Given the description of an element on the screen output the (x, y) to click on. 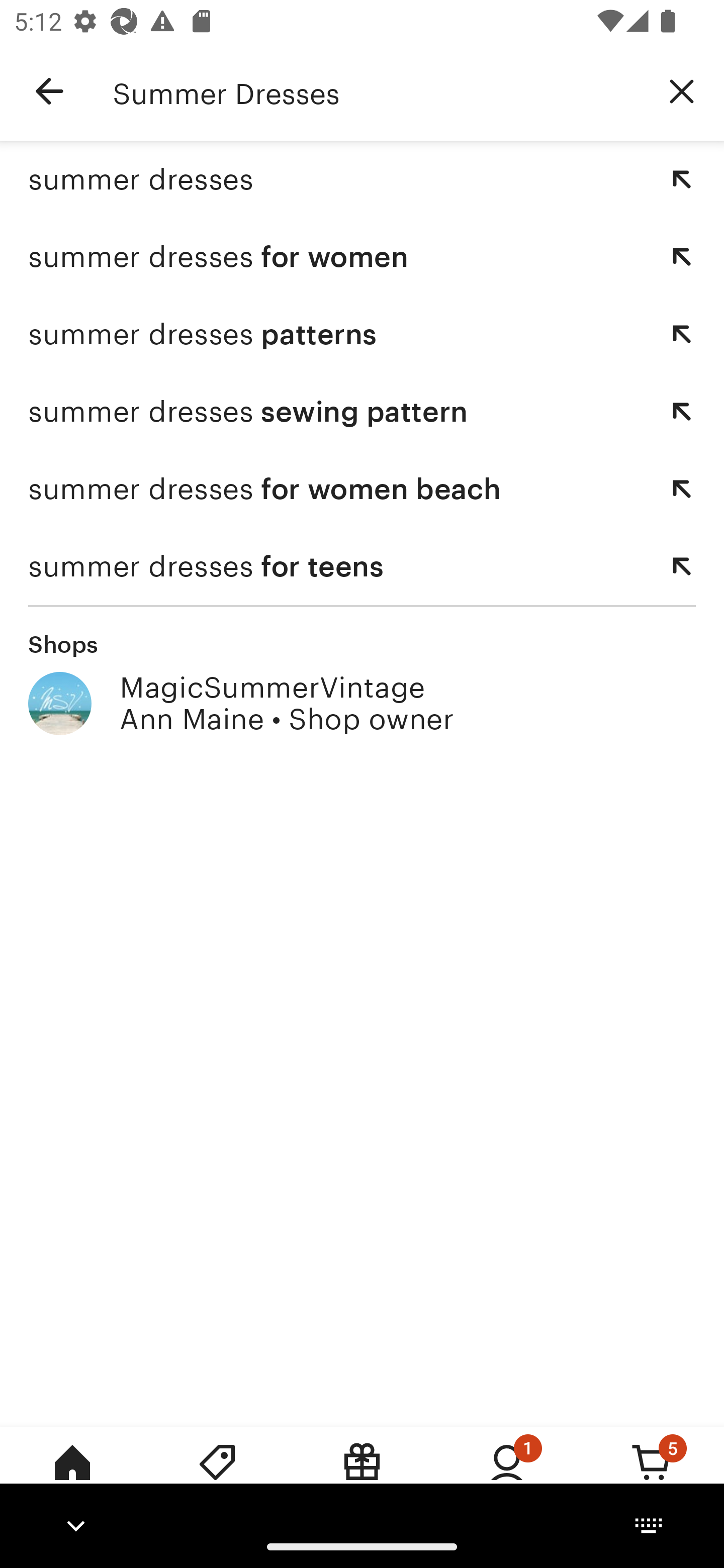
Navigate up (49, 91)
Clear query (681, 90)
Summer Dresses (375, 91)
Deals (216, 1475)
Gift Mode (361, 1475)
You, 1 new notification (506, 1475)
Cart, 5 new notifications (651, 1475)
